Given the description of an element on the screen output the (x, y) to click on. 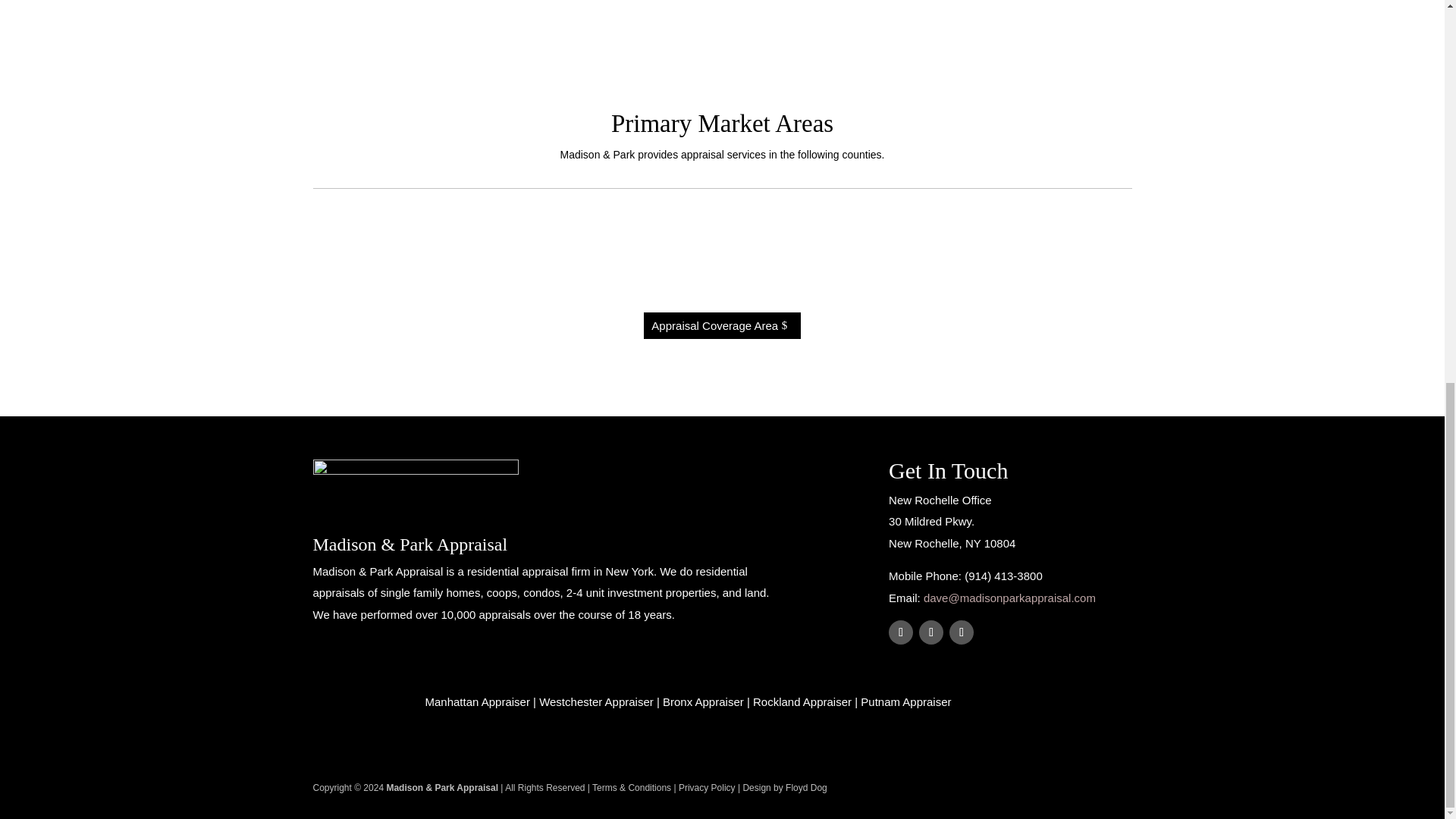
Appraisal Coverage Area (721, 325)
Manhattan Appraiser (477, 701)
Westchester Appraiser (595, 701)
Follow on Facebook (900, 631)
Follow on LinkedIn (961, 631)
Follow on X (930, 631)
